Given the description of an element on the screen output the (x, y) to click on. 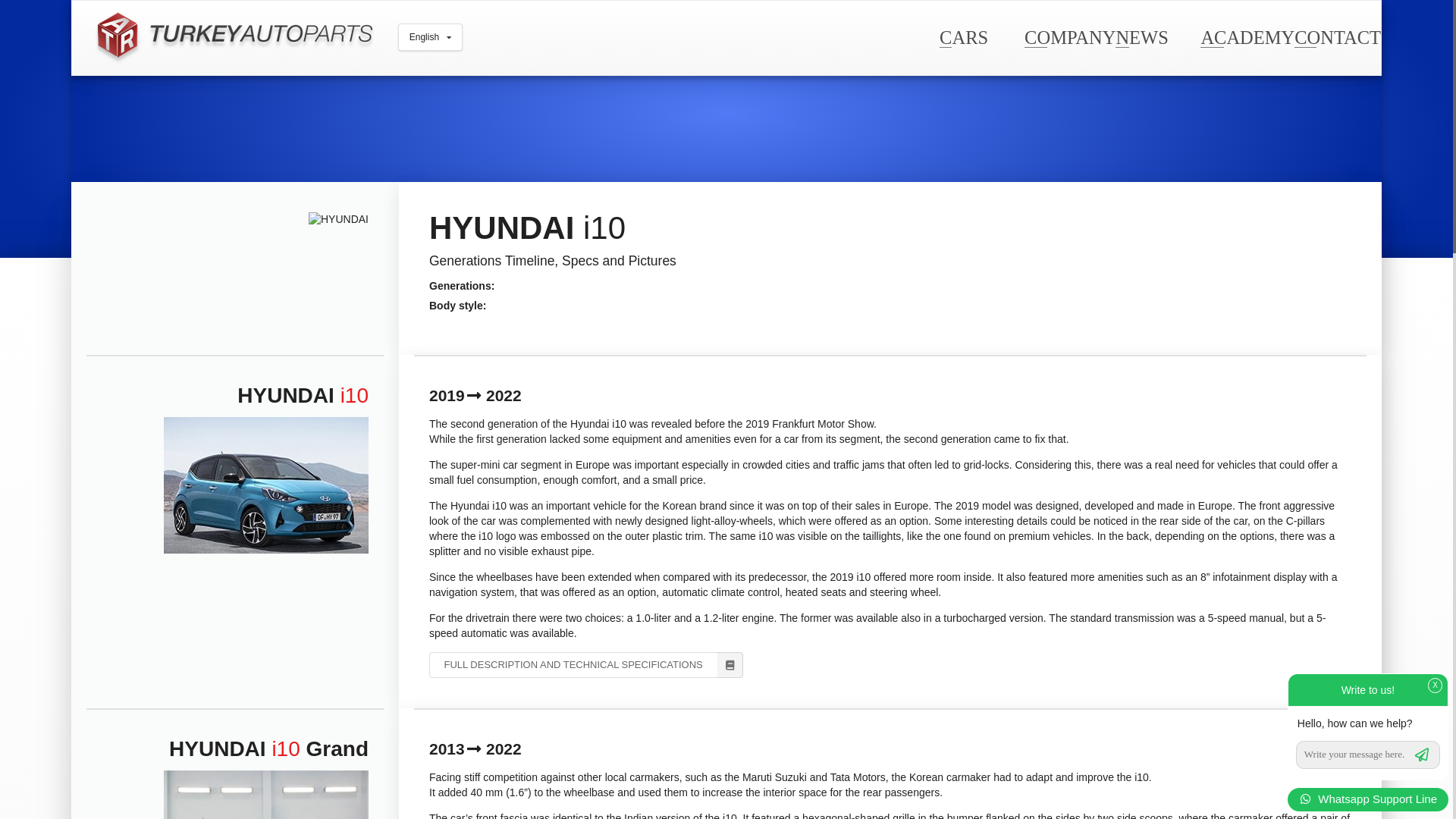
NEWS (1141, 37)
FULL DESCRIPTION AND TECHNICAL SPECIFICATIONS (585, 664)
CARS (963, 37)
ACADEMY (1246, 37)
COMPANY (1070, 37)
CONTACT (1337, 37)
